Given the description of an element on the screen output the (x, y) to click on. 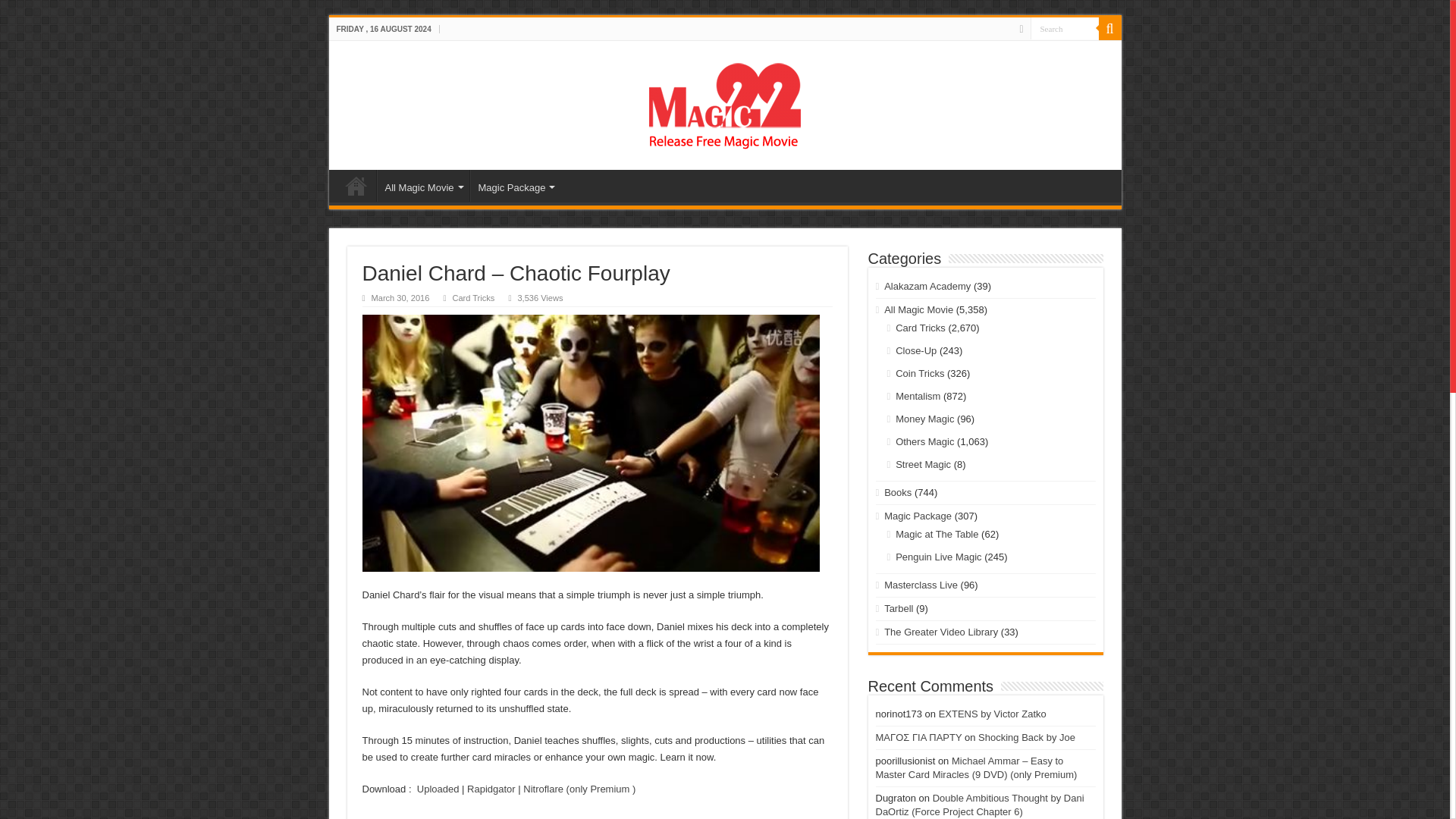
Magic22 (724, 102)
Rapidgator (491, 788)
Search (1063, 28)
Magic Package (515, 185)
Search (1063, 28)
Search (1109, 28)
Uploaded (438, 788)
Search (1063, 28)
Card Tricks (473, 297)
Home (355, 185)
